Given the description of an element on the screen output the (x, y) to click on. 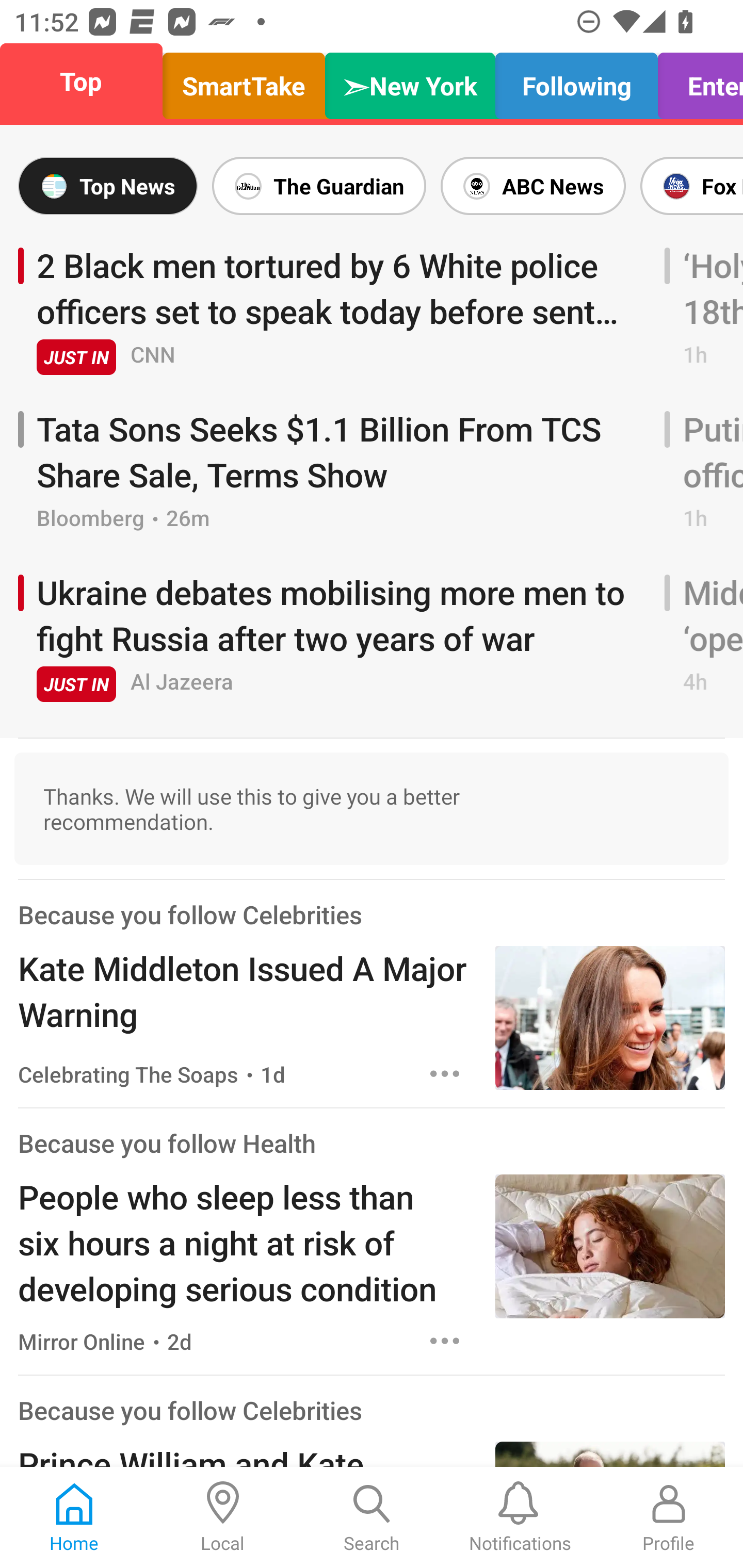
Top (86, 81)
SmartTake (243, 81)
➣New York (409, 81)
Following (576, 81)
The Guardian (319, 185)
ABC News (533, 185)
Fox News (688, 185)
JUST IN (75, 356)
JUST IN (75, 684)
Because you follow Celebrities (189, 913)
Options (444, 1074)
Because you follow Health (166, 1142)
Options (444, 1340)
Because you follow Celebrities (189, 1409)
Local (222, 1517)
Search (371, 1517)
Notifications (519, 1517)
Profile (668, 1517)
